Given the description of an element on the screen output the (x, y) to click on. 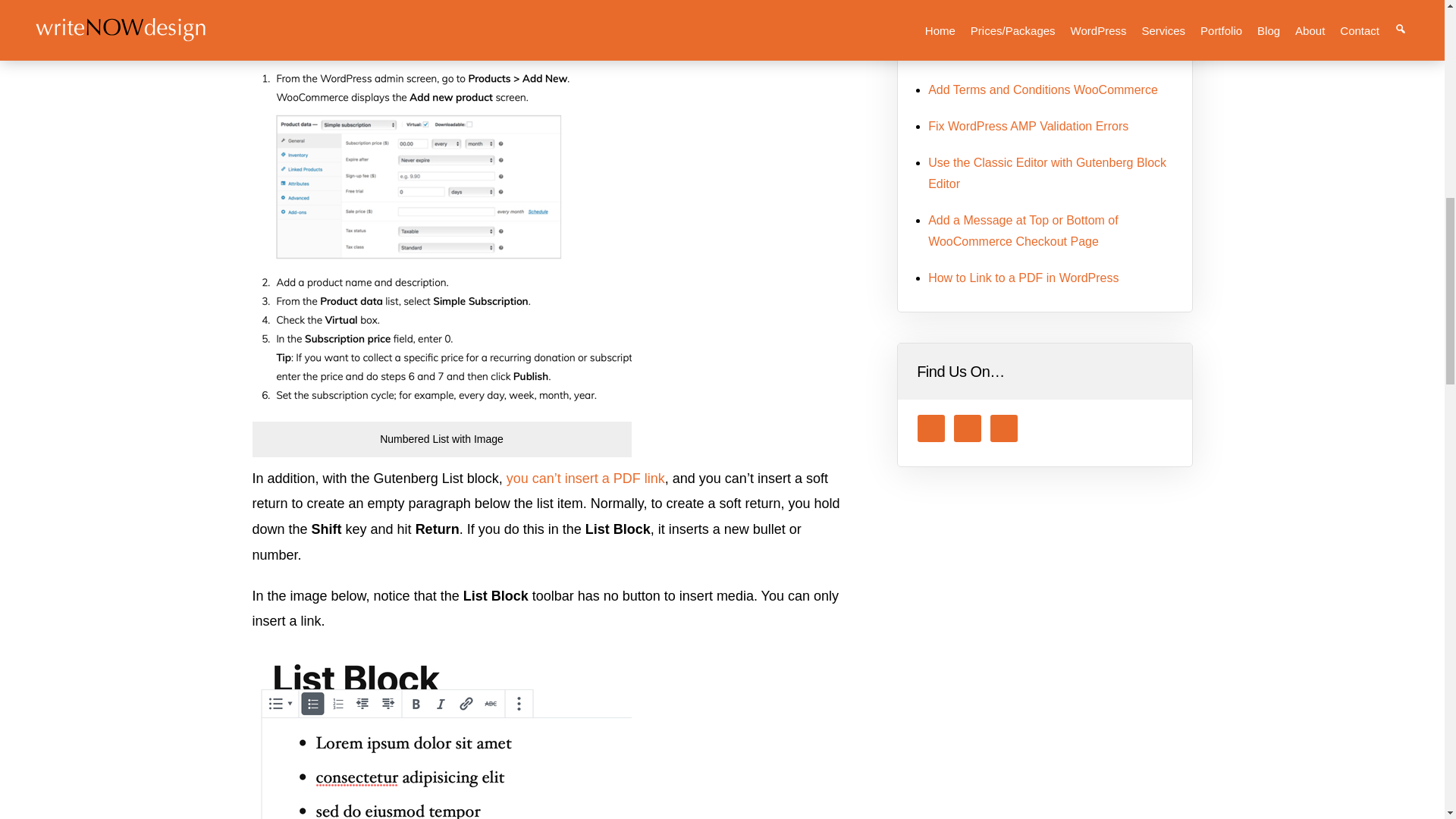
Fix WordPress AMP Validation Errors (1028, 125)
Use the Classic Editor with Gutenberg Block Editor (1047, 173)
Add Terms and Conditions WooCommerce (1042, 89)
How to Link to a PDF in WordPress (1023, 277)
Add a Message at Top or Bottom of WooCommerce Checkout Page (1023, 230)
WPForms Not Sending Notifications (1024, 52)
